Given the description of an element on the screen output the (x, y) to click on. 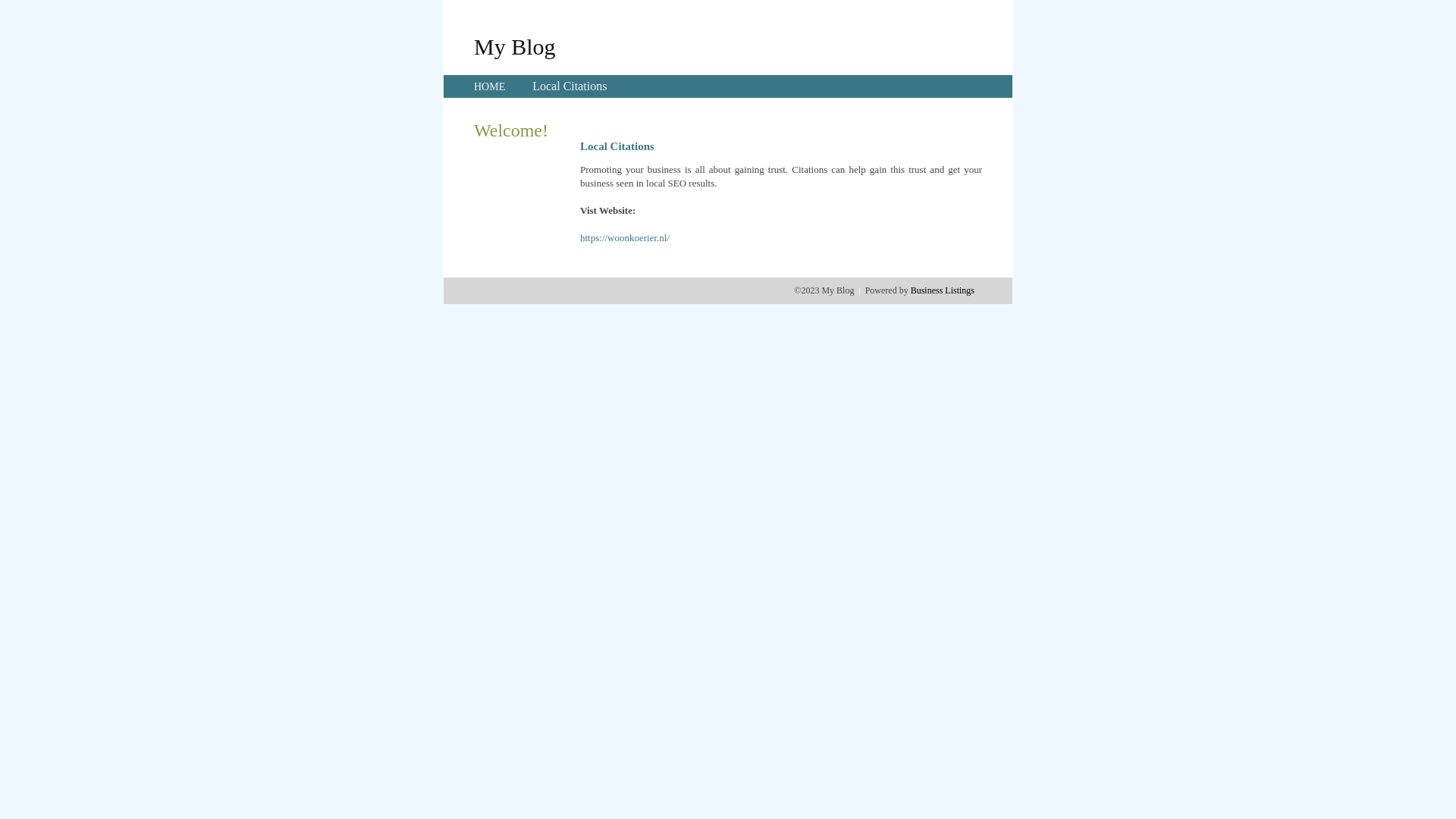
Local Citations Element type: text (569, 85)
Business Listings Element type: text (942, 290)
HOME Element type: text (489, 86)
https://woonkoerier.nl/ Element type: text (624, 237)
My Blog Element type: text (514, 46)
